Given the description of an element on the screen output the (x, y) to click on. 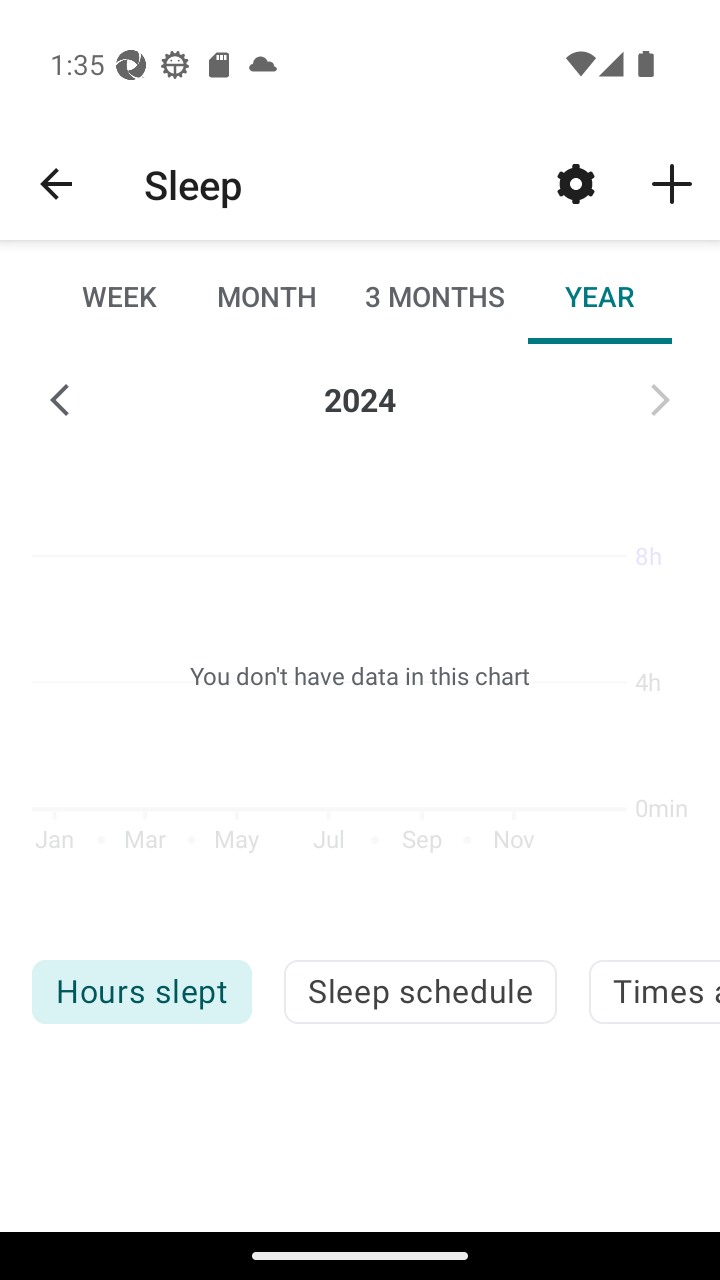
Navigate up (56, 184)
Adjust your goal (575, 183)
Tap to track sleep or
 log a past record (672, 183)
WEEK (120, 296)
MONTH (265, 296)
3 MONTHS (433, 296)
Previous (60, 399)
Next (659, 399)
Hours slept (141, 991)
Sleep schedule (420, 991)
Times awakened (654, 991)
